Given the description of an element on the screen output the (x, y) to click on. 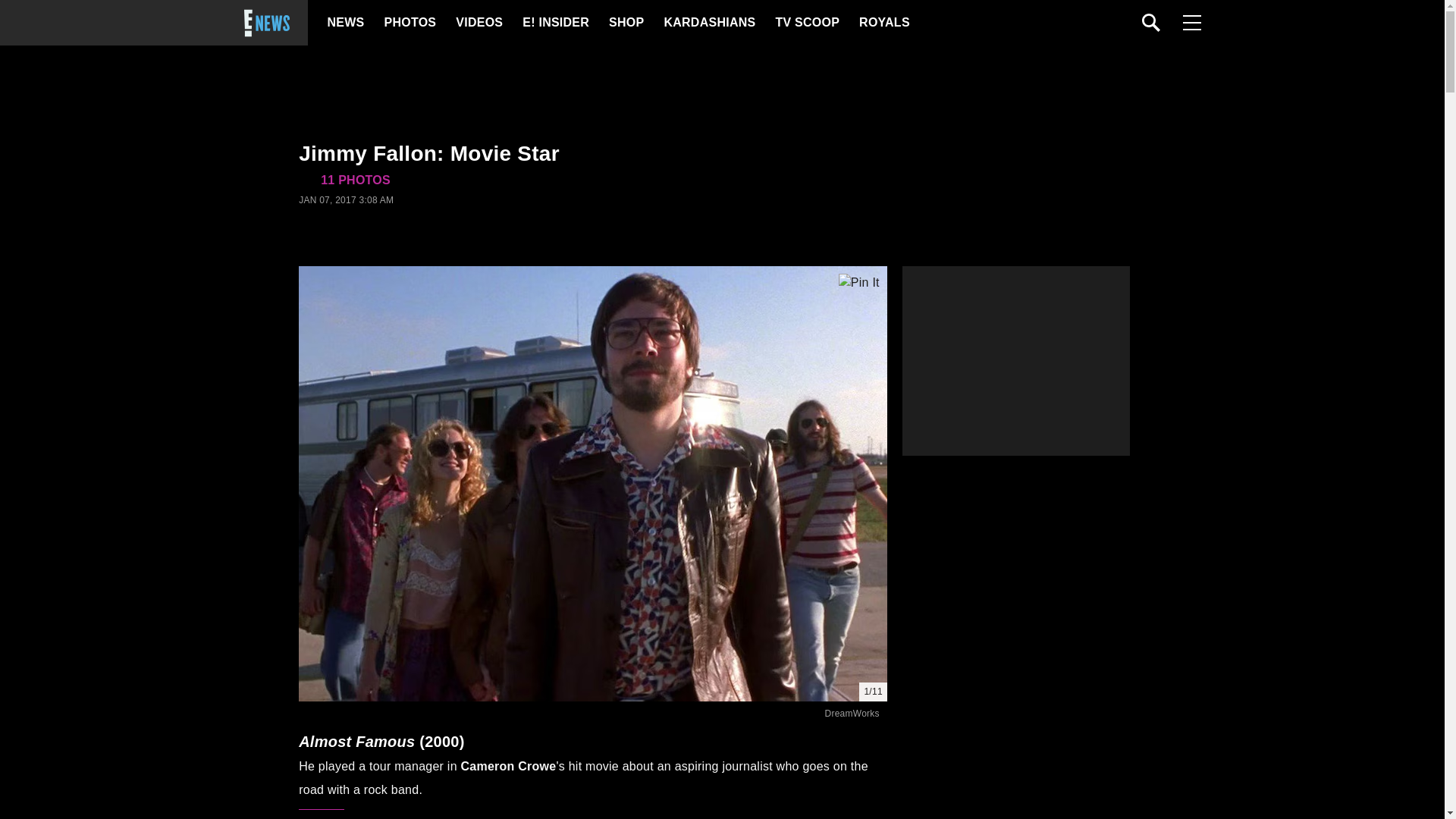
PHOTOS (408, 22)
SHOP (625, 22)
NEWS (345, 22)
TV SCOOP (806, 22)
VIDEOS (478, 22)
ROYALS (883, 22)
KARDASHIANS (708, 22)
E! INSIDER (555, 22)
